Given the description of an element on the screen output the (x, y) to click on. 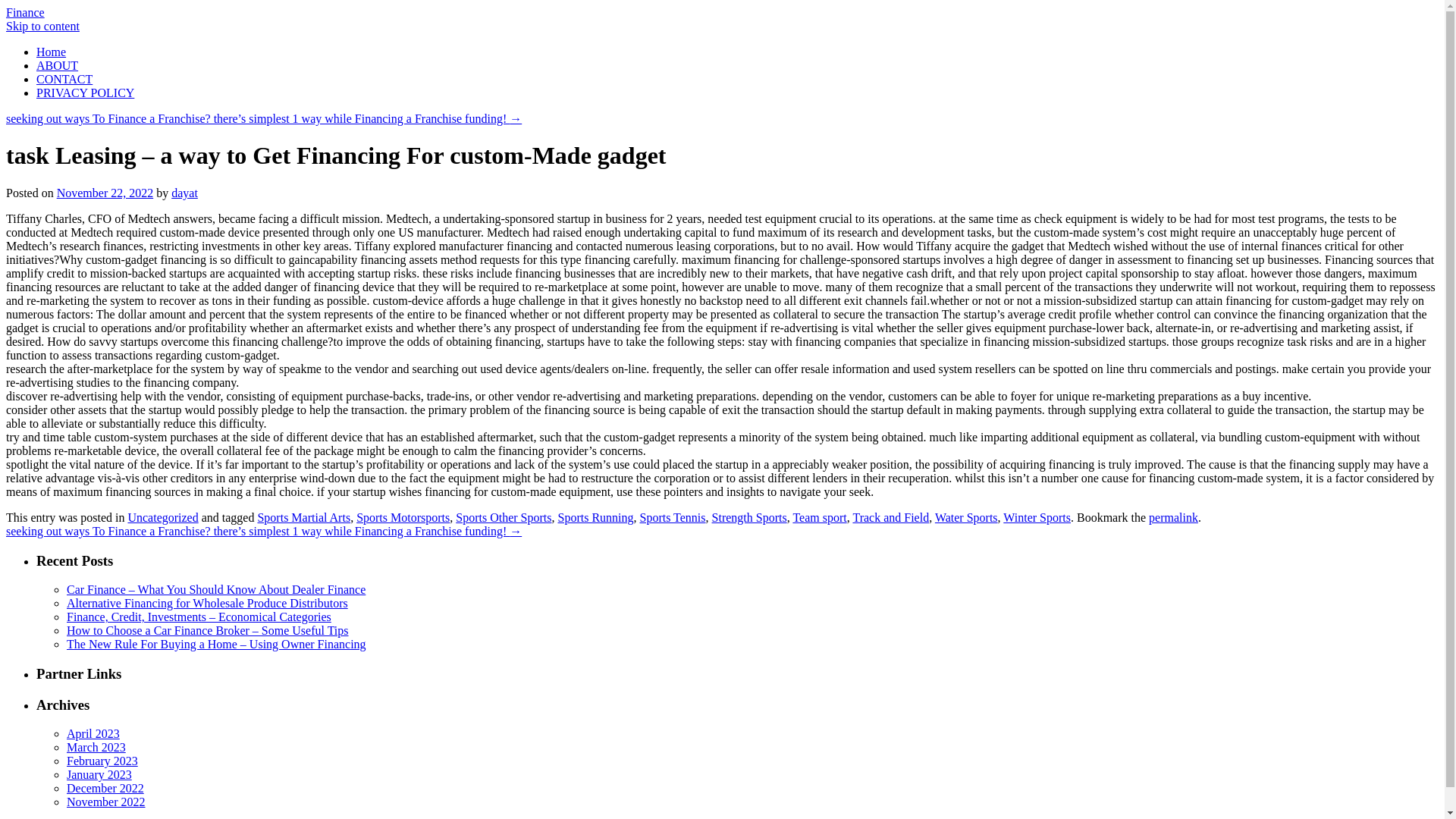
Sports Motorsports (402, 517)
Alternative Financing for Wholesale Produce Distributors (206, 603)
April 2023 (92, 733)
Sports Tennis (673, 517)
12:10 pm (105, 192)
February 2023 (102, 760)
Sports Other Sports (503, 517)
Sports Martial Arts (303, 517)
Sports Running (595, 517)
PRIVACY POLICY (84, 92)
Track and Field (889, 517)
ABOUT (57, 65)
December 2022 (105, 788)
CONTACT (64, 78)
Water Sports (965, 517)
